Given the description of an element on the screen output the (x, y) to click on. 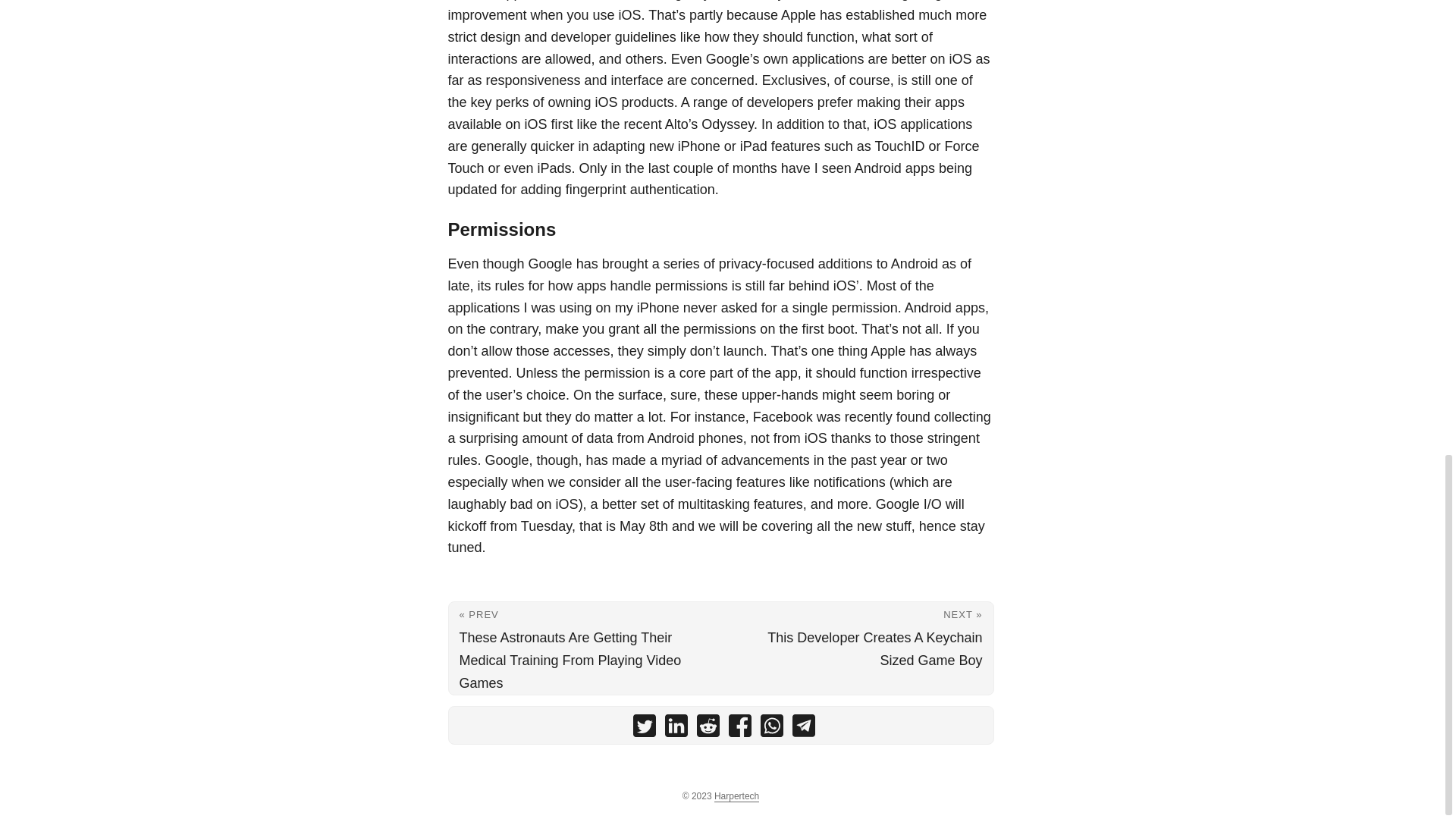
Harpertech (736, 796)
